Given the description of an element on the screen output the (x, y) to click on. 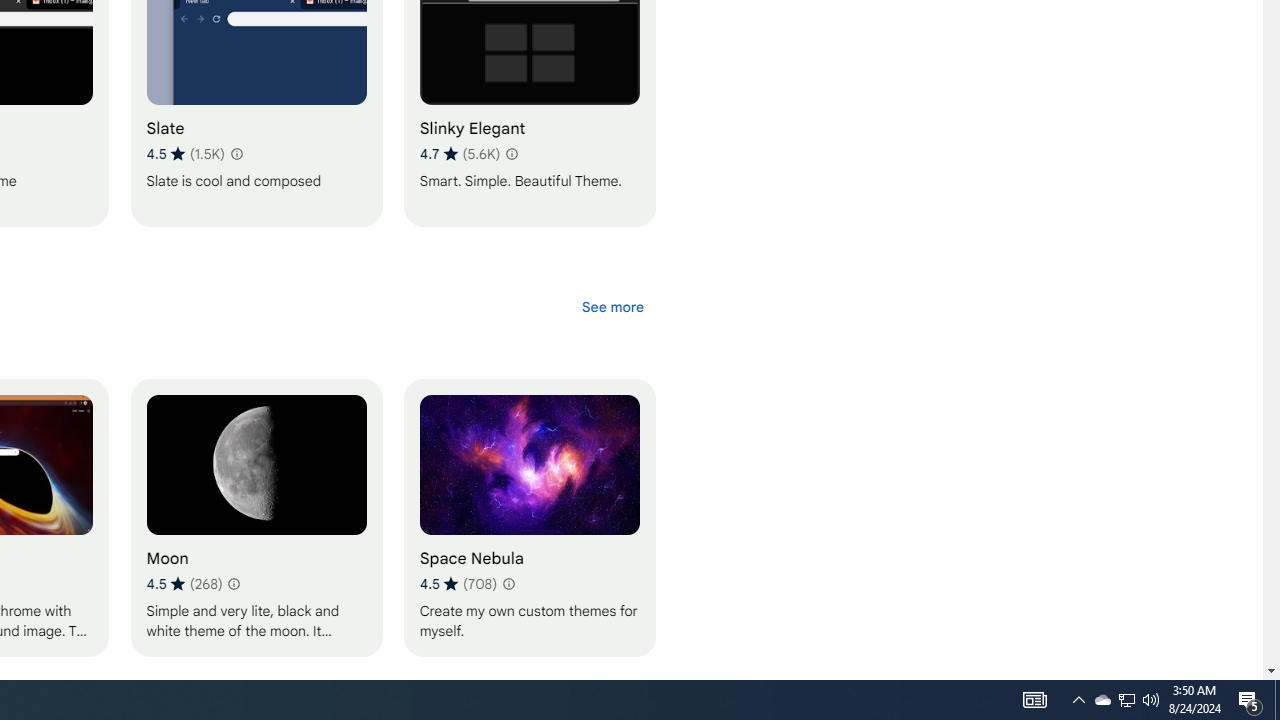
Average rating 4.5 out of 5 stars. 1.5K ratings. (185, 154)
See more of the "Space exploration" collection (612, 306)
Average rating 4.5 out of 5 stars. 708 ratings. (457, 583)
Learn more about results and reviews "Space Nebula" (507, 583)
Learn more about results and reviews "Slinky Elegant" (511, 153)
Moon (255, 517)
Learn more about results and reviews "Slate" (235, 153)
Space Nebula (529, 517)
Average rating 4.5 out of 5 stars. 268 ratings. (183, 583)
Learn more about results and reviews "Moon" (233, 583)
Average rating 4.7 out of 5 stars. 5.6K ratings. (459, 154)
